Given the description of an element on the screen output the (x, y) to click on. 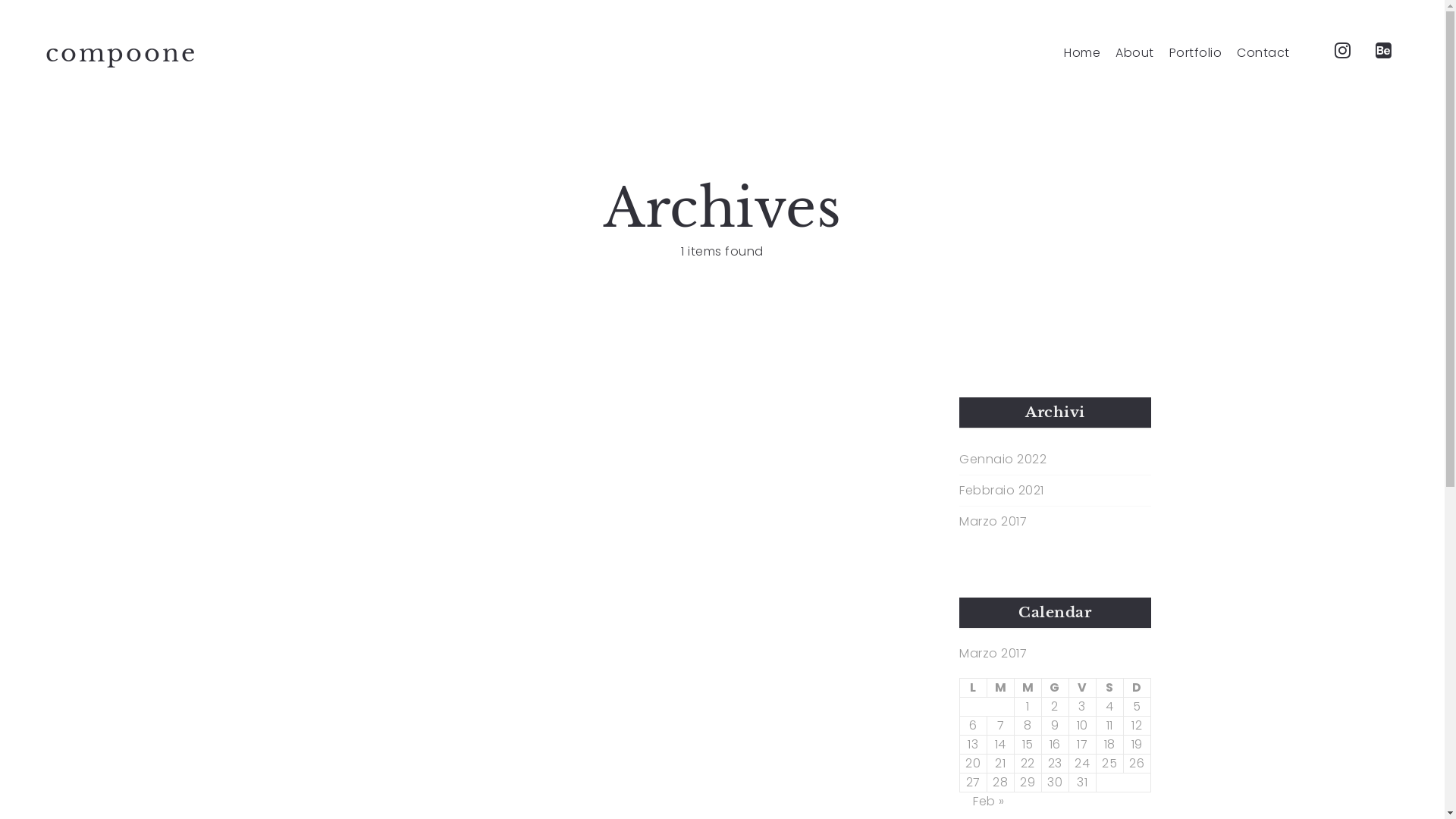
Home Element type: text (1081, 52)
Gennaio 2022 Element type: text (1002, 459)
About Element type: text (1134, 52)
Febbraio 2021 Element type: text (1001, 490)
14 Element type: text (1000, 744)
Marzo 2017 Element type: text (992, 521)
Contact Element type: text (1262, 52)
compoone Element type: text (121, 53)
Portfolio Element type: text (1195, 52)
